Given the description of an element on the screen output the (x, y) to click on. 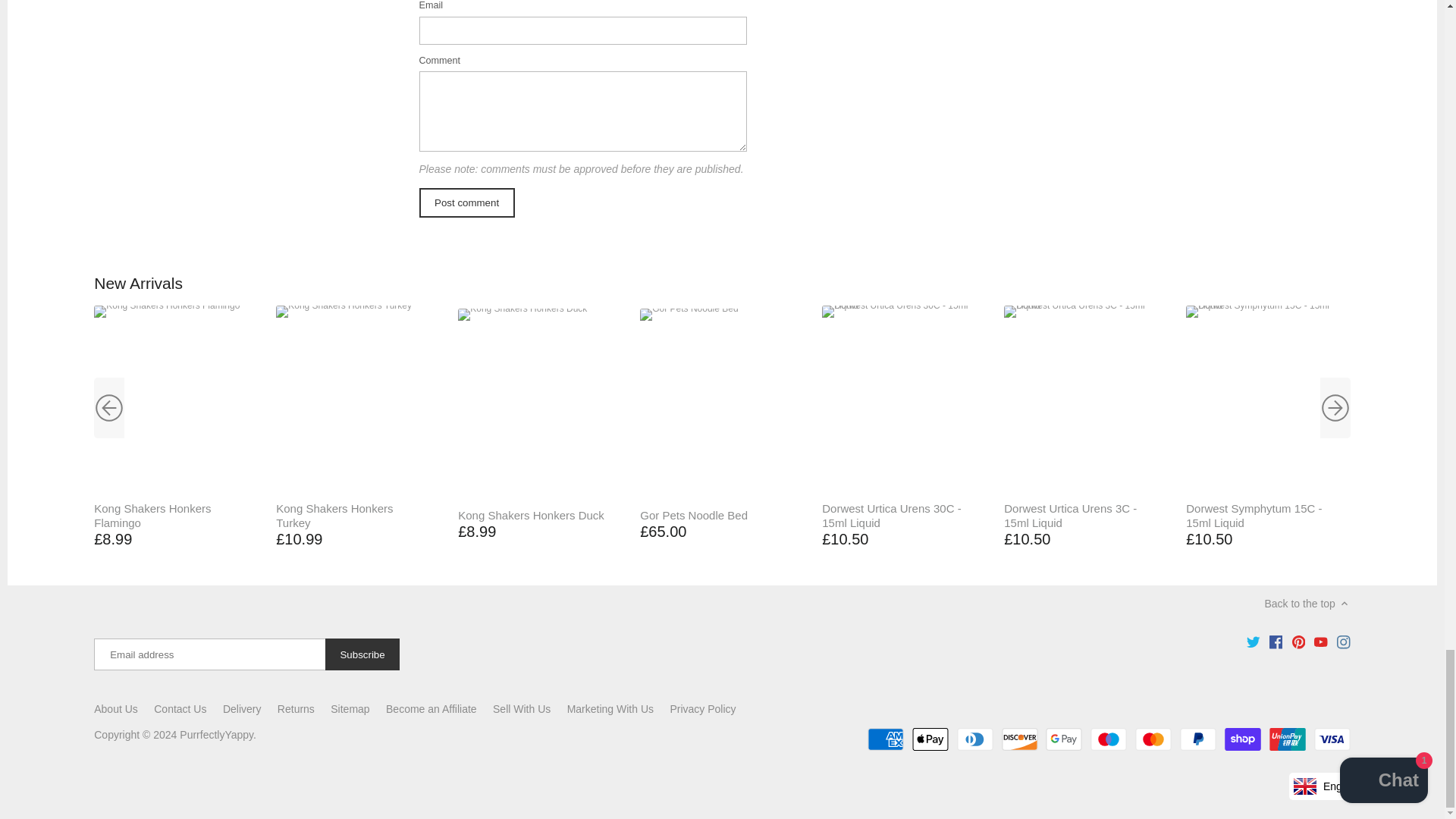
Post comment (466, 202)
Instagram (1342, 641)
Twitter (1252, 641)
Pinterest (1299, 641)
Subscribe (361, 654)
Youtube (1320, 641)
Facebook (1275, 641)
